Given the description of an element on the screen output the (x, y) to click on. 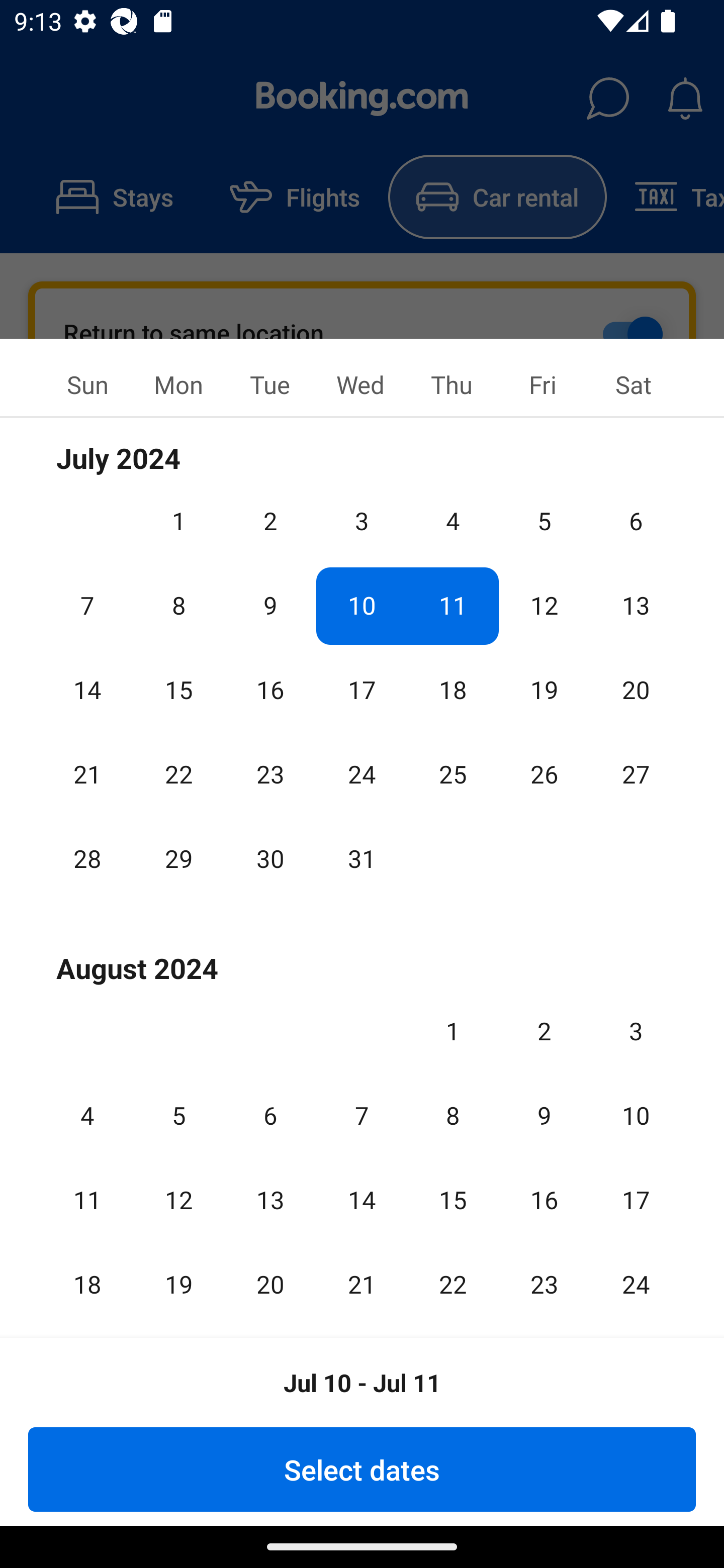
Select dates (361, 1468)
